Given the description of an element on the screen output the (x, y) to click on. 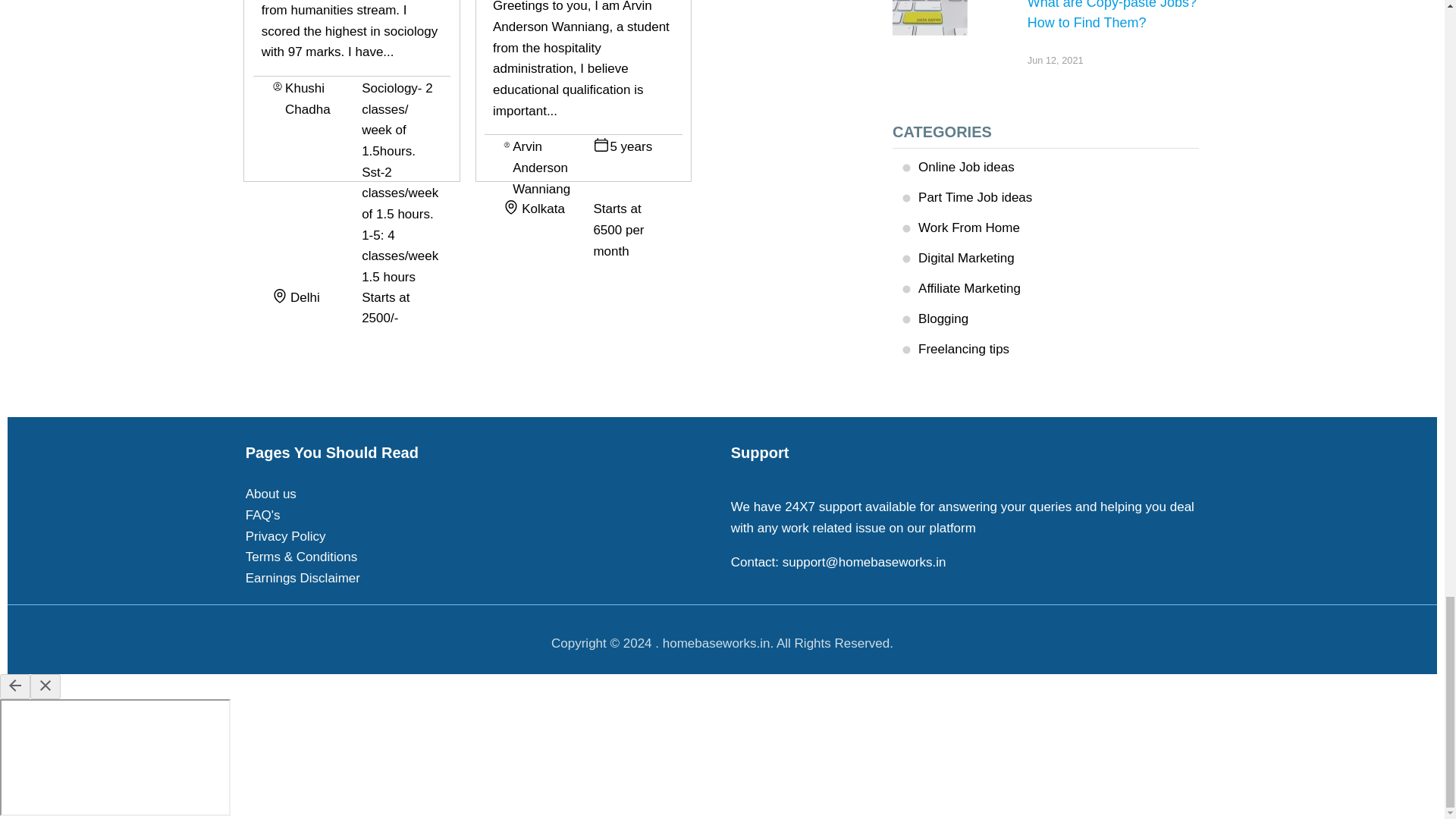
What are Copy-paste Jobs? How to Find Them? (930, 20)
